Given the description of an element on the screen output the (x, y) to click on. 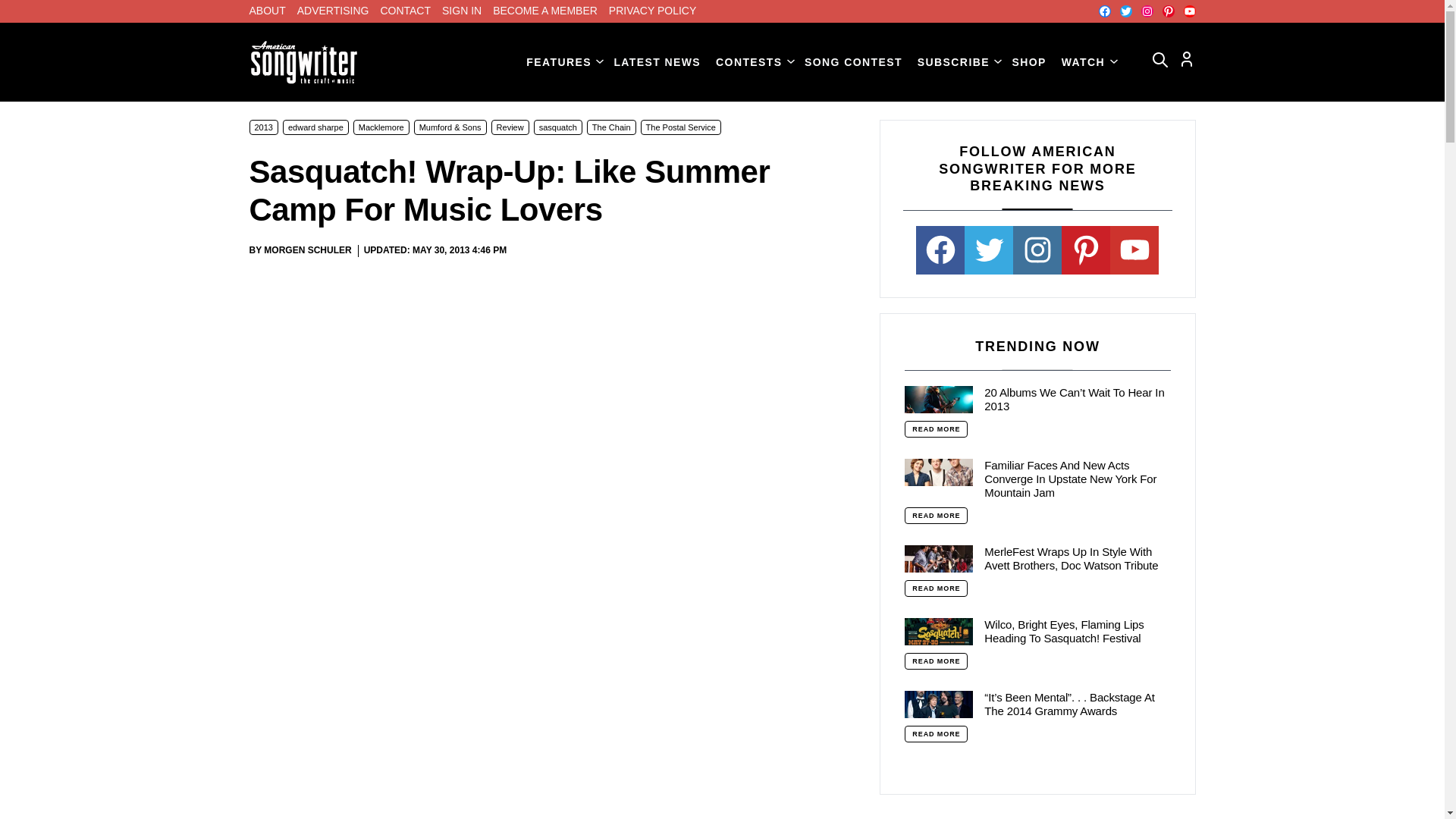
Pinterest (1167, 10)
Twitter (1125, 10)
BECOME A MEMBER (544, 10)
Instagram (1146, 10)
YouTube (1188, 10)
ABOUT (266, 10)
CONTACT (405, 10)
ADVERTISING (333, 10)
Posts by Morgen Schuler (306, 249)
Facebook (1103, 10)
